Given the description of an element on the screen output the (x, y) to click on. 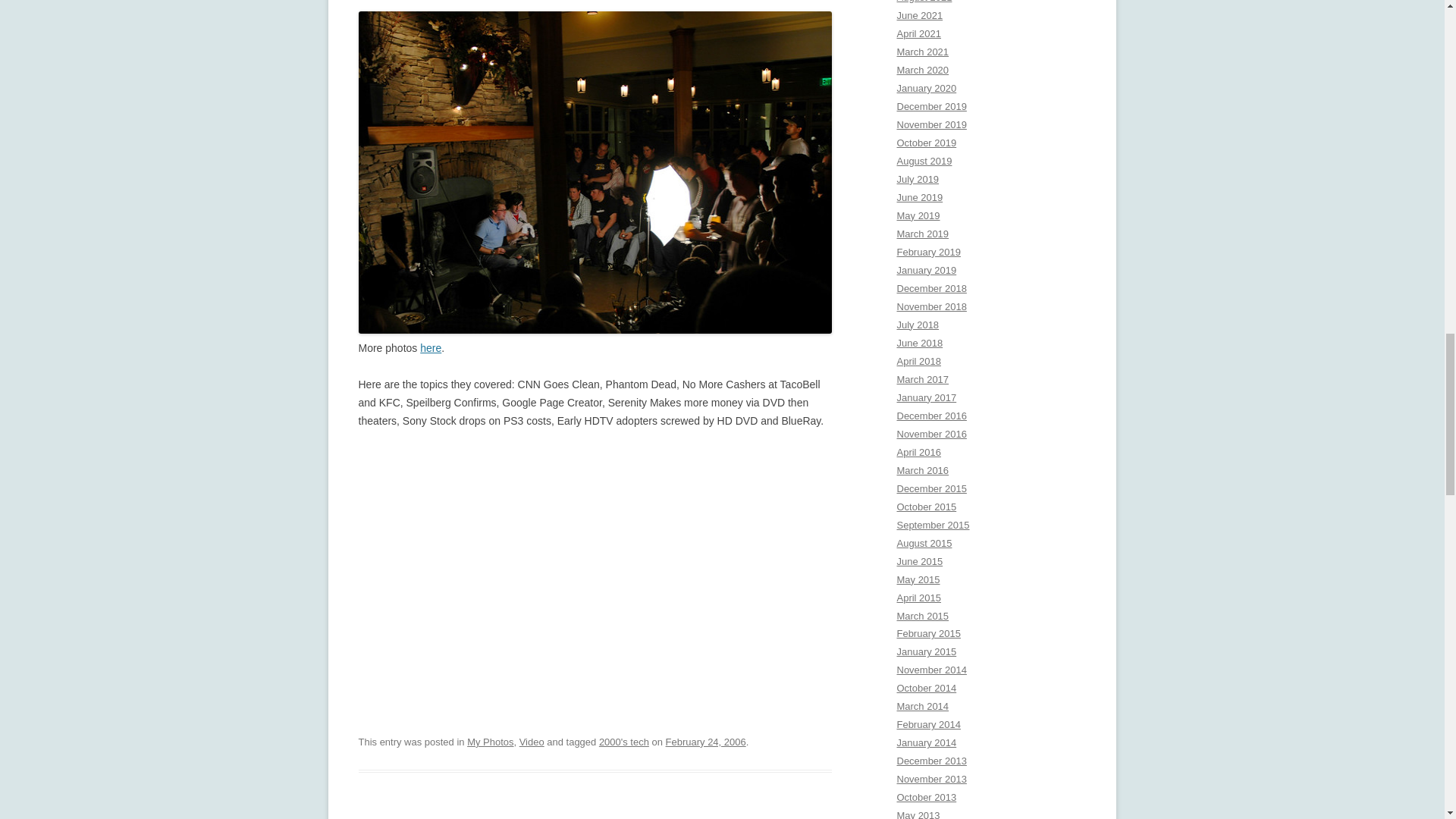
2:55 am (705, 741)
